Given the description of an element on the screen output the (x, y) to click on. 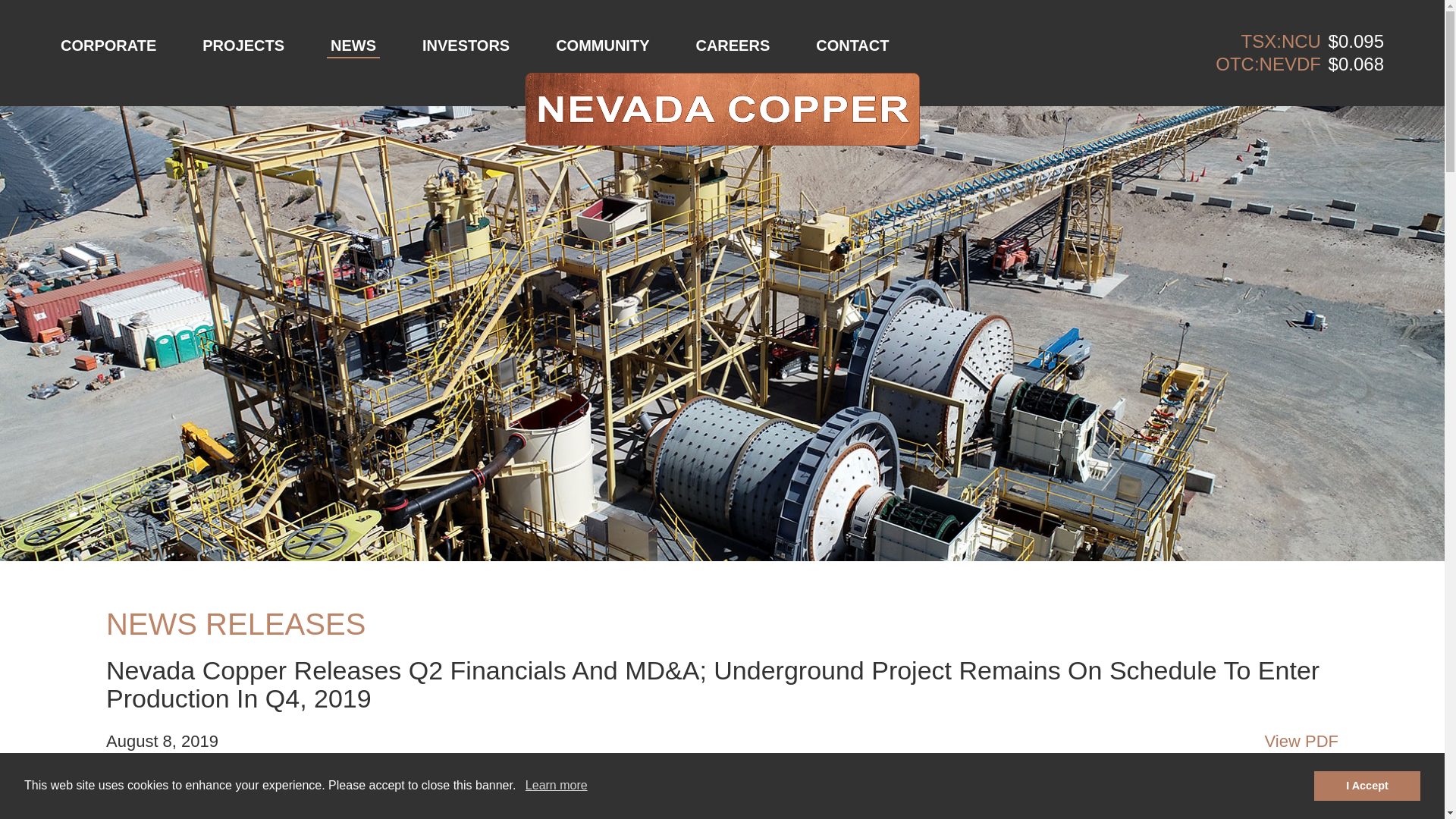
PROJECTS (242, 45)
CAREERS (732, 45)
CONTACT (851, 45)
COMMUNITY (602, 45)
CORPORATE (108, 45)
Learn more (556, 785)
View PDF (1301, 741)
I Accept (1367, 785)
INVESTORS (465, 45)
NEWS (352, 45)
